Given the description of an element on the screen output the (x, y) to click on. 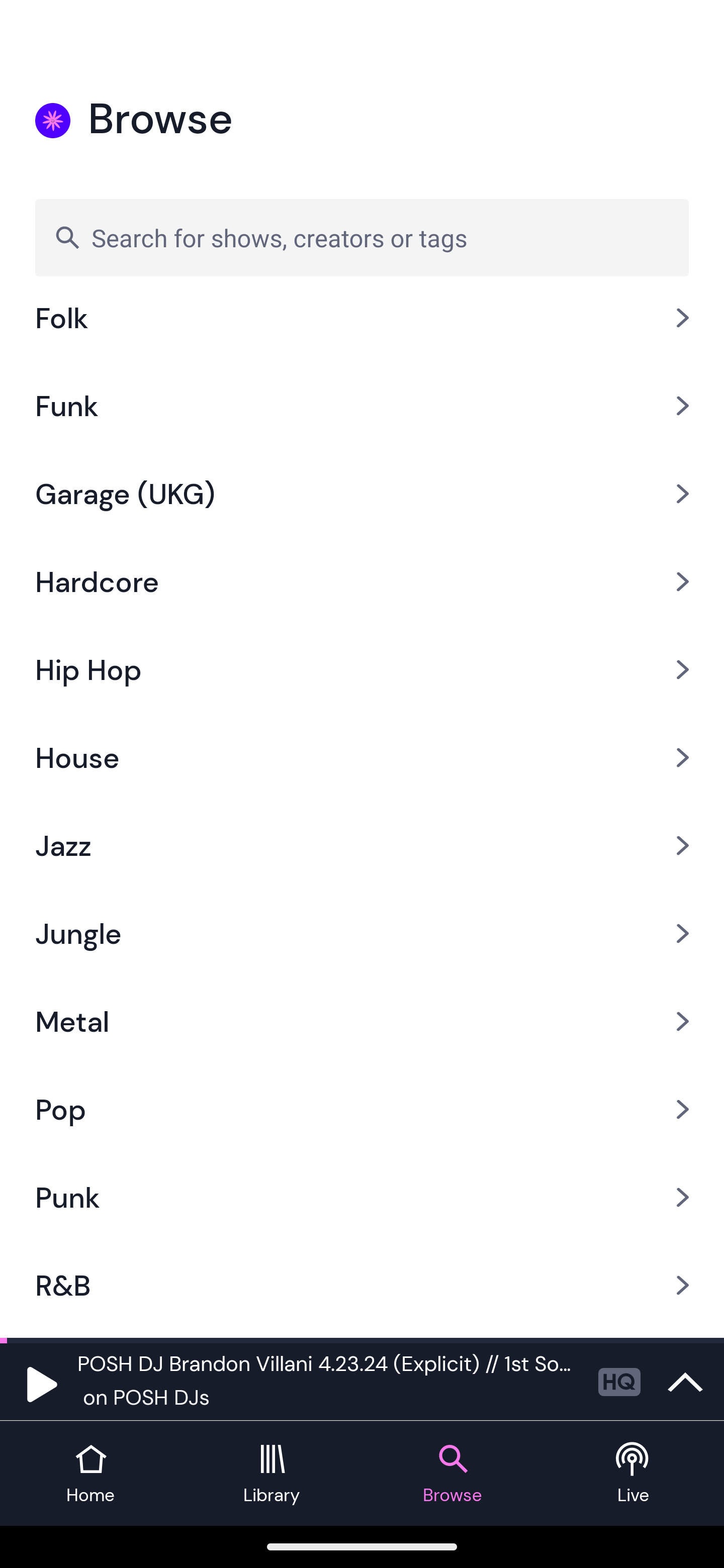
Search for shows, creators or tags (361, 237)
Folk (361, 332)
Funk (361, 406)
Garage (UKG) (361, 493)
Hardcore (361, 581)
Hip Hop (361, 669)
House (361, 757)
Jazz (361, 845)
Jungle (361, 932)
Metal (361, 1020)
Pop (361, 1109)
Punk (361, 1197)
R&B (361, 1285)
Home tab Home (90, 1473)
Library tab Library (271, 1473)
Browse tab Browse (452, 1473)
Live tab Live (633, 1473)
